Given the description of an element on the screen output the (x, y) to click on. 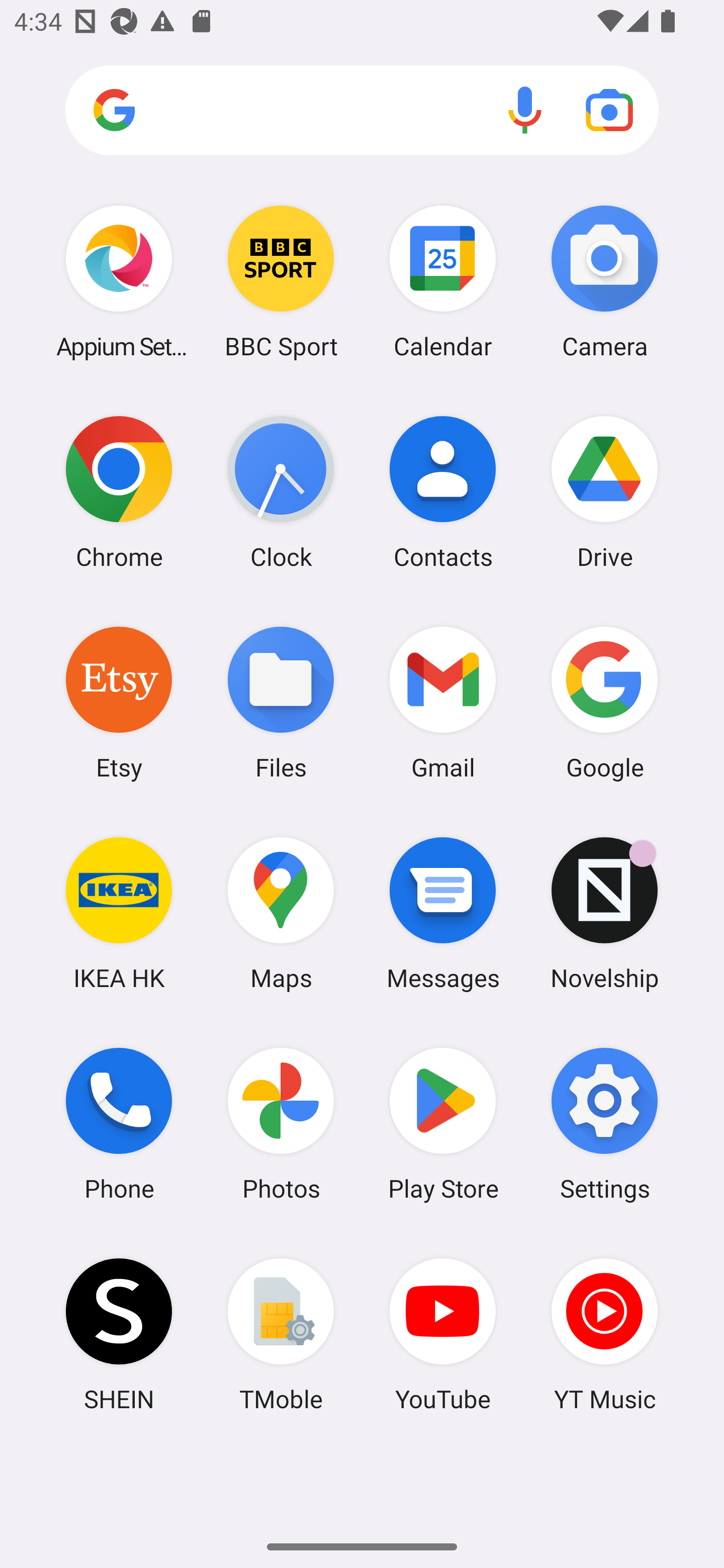
Search apps, web and more (361, 110)
Voice search (524, 109)
Google Lens (608, 109)
Appium Settings (118, 281)
BBC Sport (280, 281)
Calendar (443, 281)
Camera (604, 281)
Chrome (118, 492)
Clock (280, 492)
Contacts (443, 492)
Drive (604, 492)
Etsy (118, 702)
Files (280, 702)
Gmail (443, 702)
Google (604, 702)
IKEA HK (118, 913)
Maps (280, 913)
Messages (443, 913)
Novelship Novelship has 6 notifications (604, 913)
Phone (118, 1124)
Photos (280, 1124)
Play Store (443, 1124)
Settings (604, 1124)
SHEIN (118, 1334)
TMoble (280, 1334)
YouTube (443, 1334)
YT Music (604, 1334)
